Given the description of an element on the screen output the (x, y) to click on. 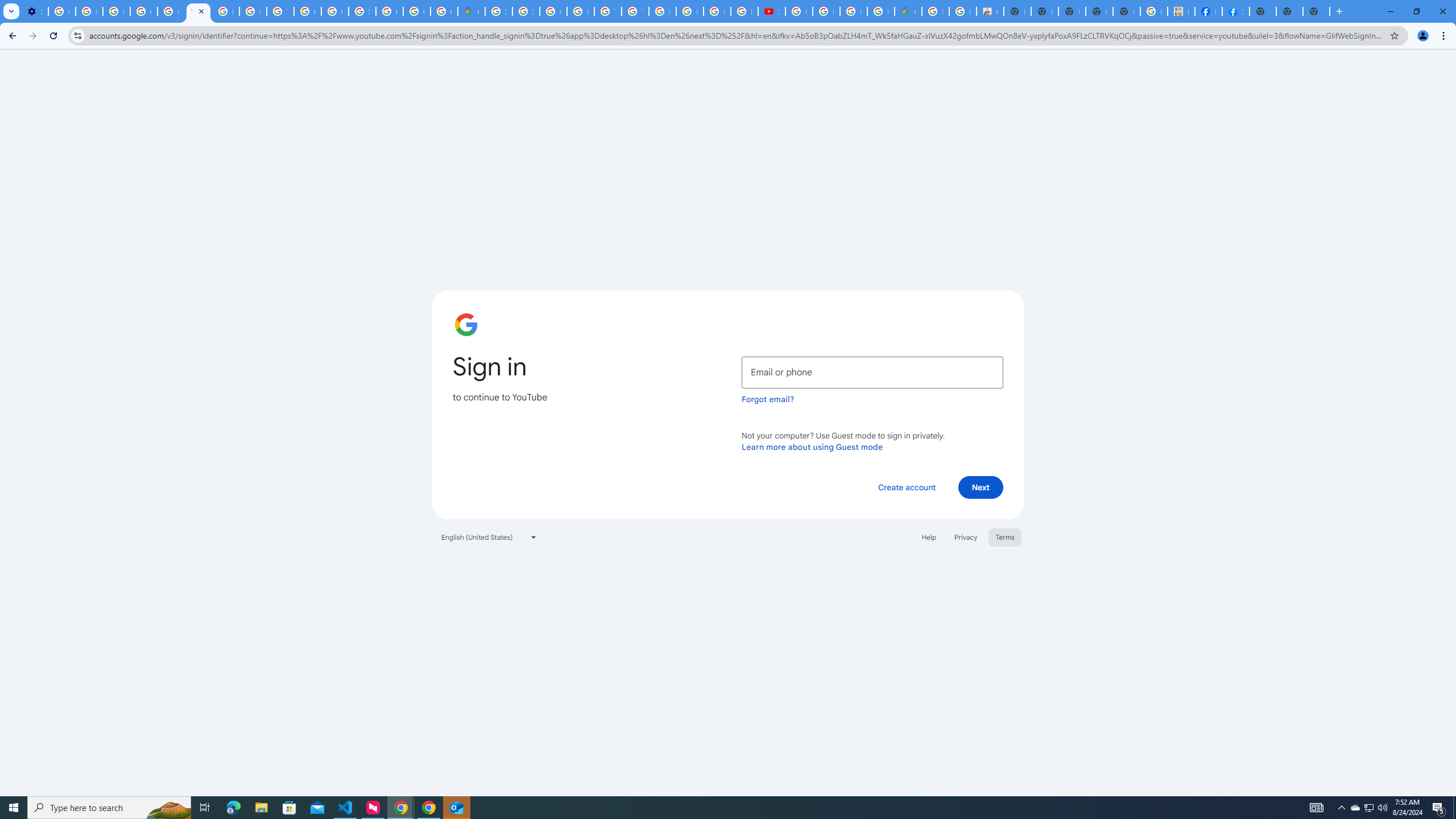
Terms and Conditions (634, 11)
Miley Cyrus | Facebook (1208, 11)
Delete photos & videos - Computer - Google Photos Help (61, 11)
Privacy Help Center - Policies Help (716, 11)
